Given the description of an element on the screen output the (x, y) to click on. 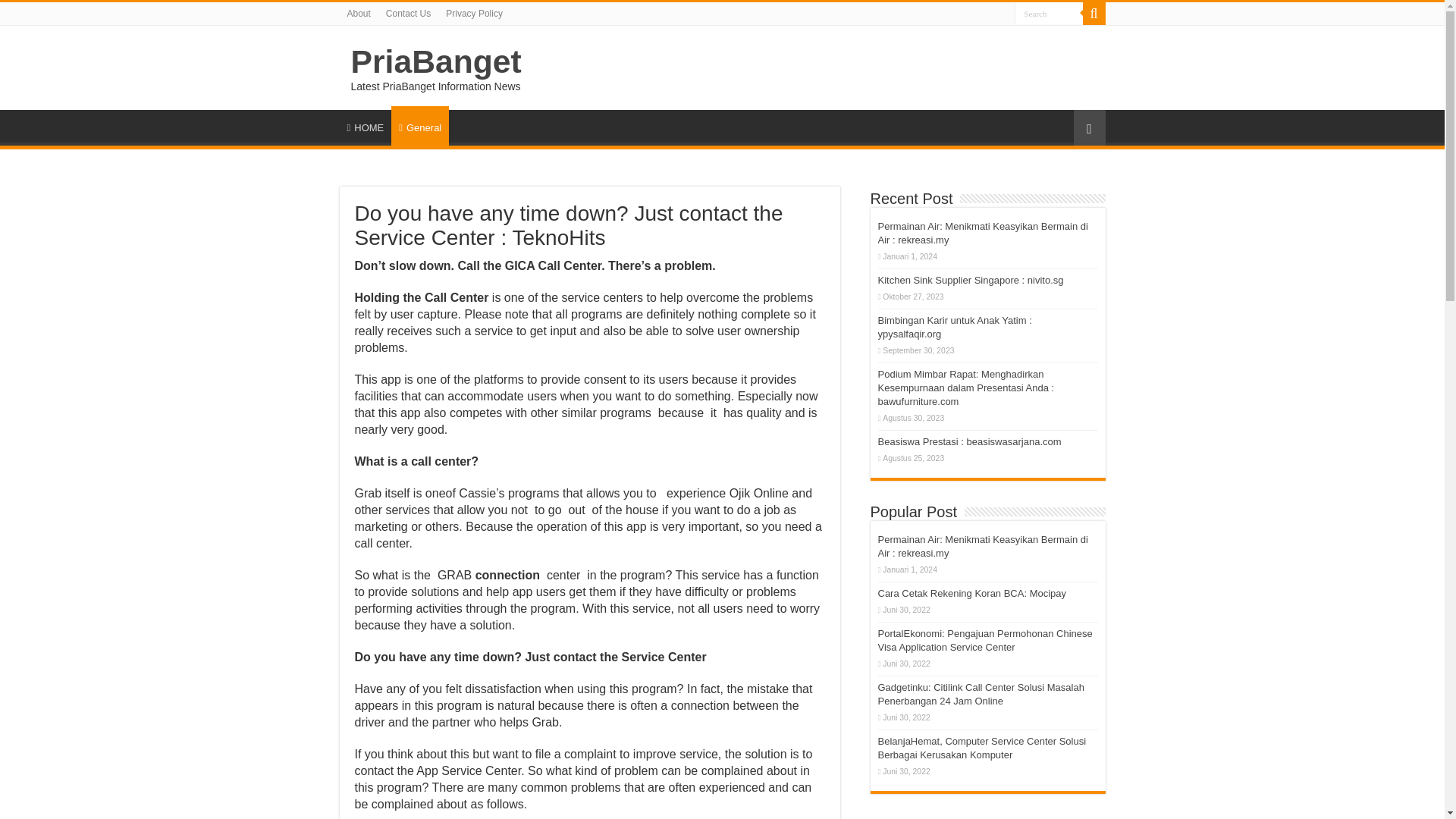
HOME (365, 125)
Contact Us (408, 13)
Kitchen Sink Supplier Singapore : nivito.sg (970, 279)
General (419, 125)
Search (1048, 13)
PriaBanget (435, 61)
About (358, 13)
Cara Cetak Rekening Koran BCA: Mocipay (972, 593)
Beasiswa Prestasi : beasiswasarjana.com (969, 441)
Privacy Policy (474, 13)
